Given the description of an element on the screen output the (x, y) to click on. 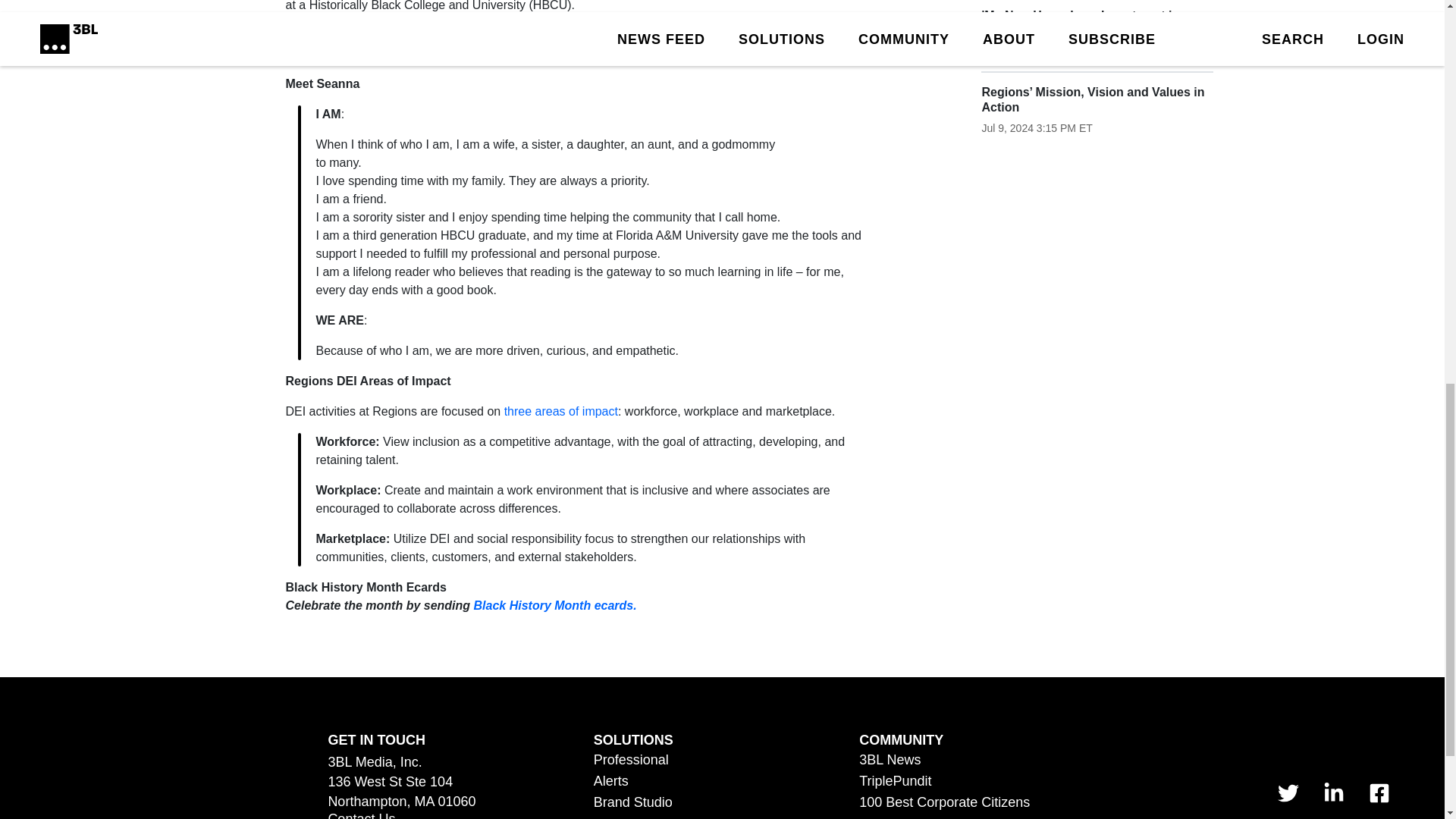
link to 3 B L Media's Twitter (1288, 792)
link to 3 B L Media's Facebook (1379, 792)
link to 3 B L Media's Linkedin (1333, 792)
